Given the description of an element on the screen output the (x, y) to click on. 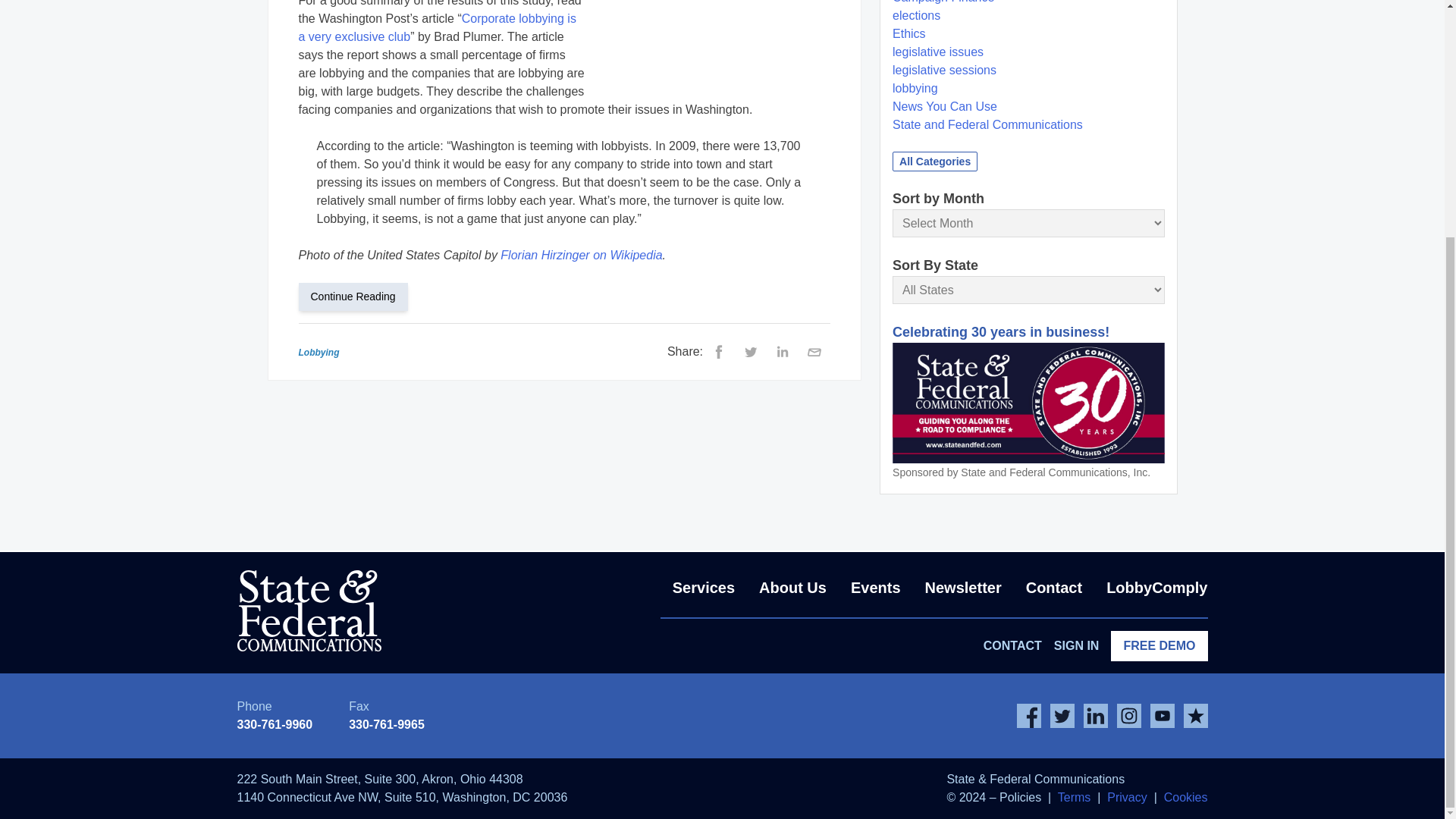
legislative sessions (943, 69)
Ethics (909, 33)
Lobbying (318, 352)
Campaign Finance (943, 2)
Continue Reading (359, 295)
elections (916, 15)
legislative issues (938, 51)
Florian Hirzinger on Wikipedia (581, 254)
Capitol (715, 35)
Corporate lobbying is a very exclusive club (437, 27)
